Given the description of an element on the screen output the (x, y) to click on. 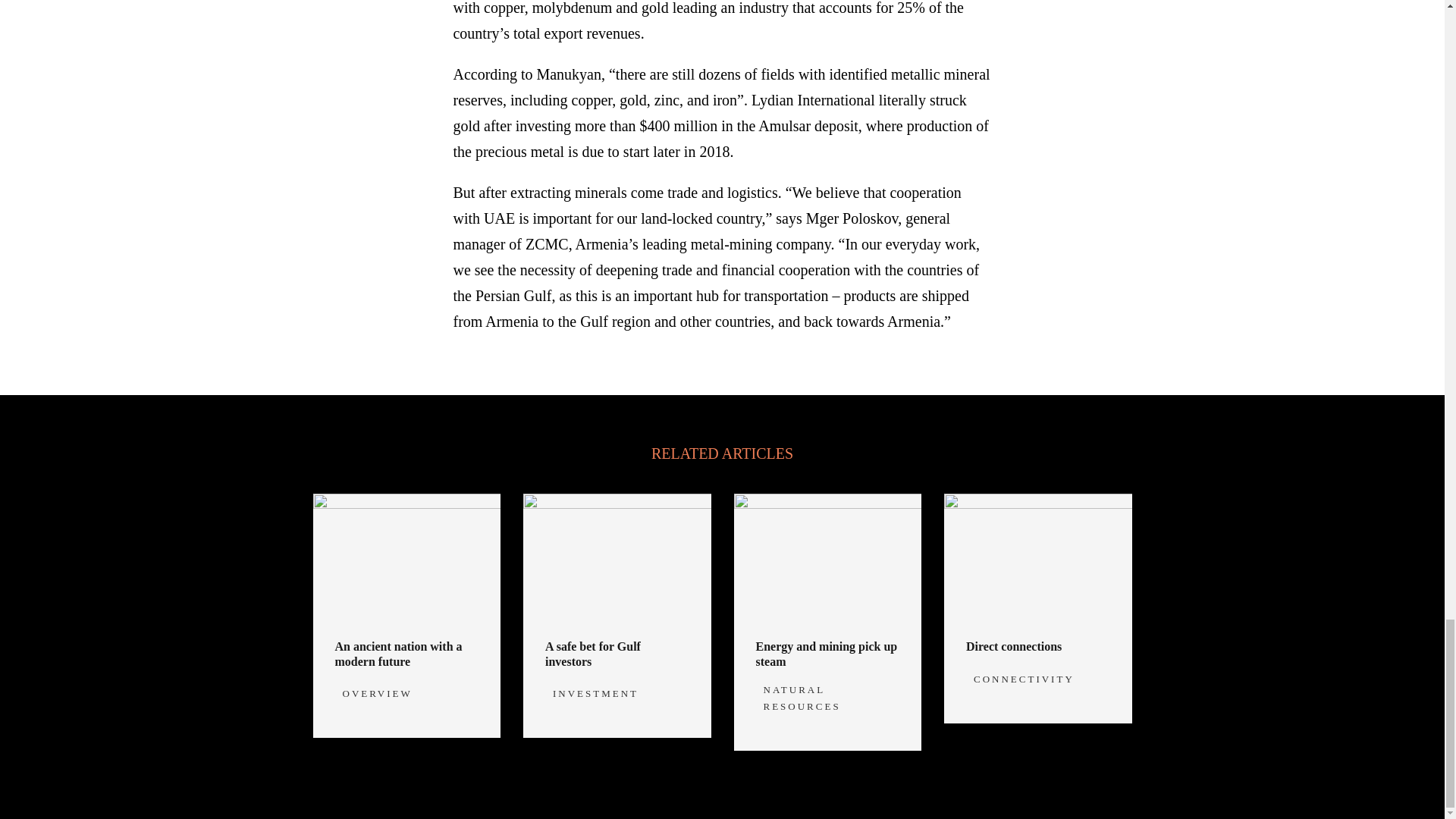
INVESTMENT (596, 693)
Energy and mining pick up steam (825, 653)
Direct connections (1013, 645)
An ancient nation with a modern future (398, 653)
OVERVIEW (377, 693)
NATURAL RESOURCES (801, 697)
A safe bet for Gulf investors (592, 653)
